Given the description of an element on the screen output the (x, y) to click on. 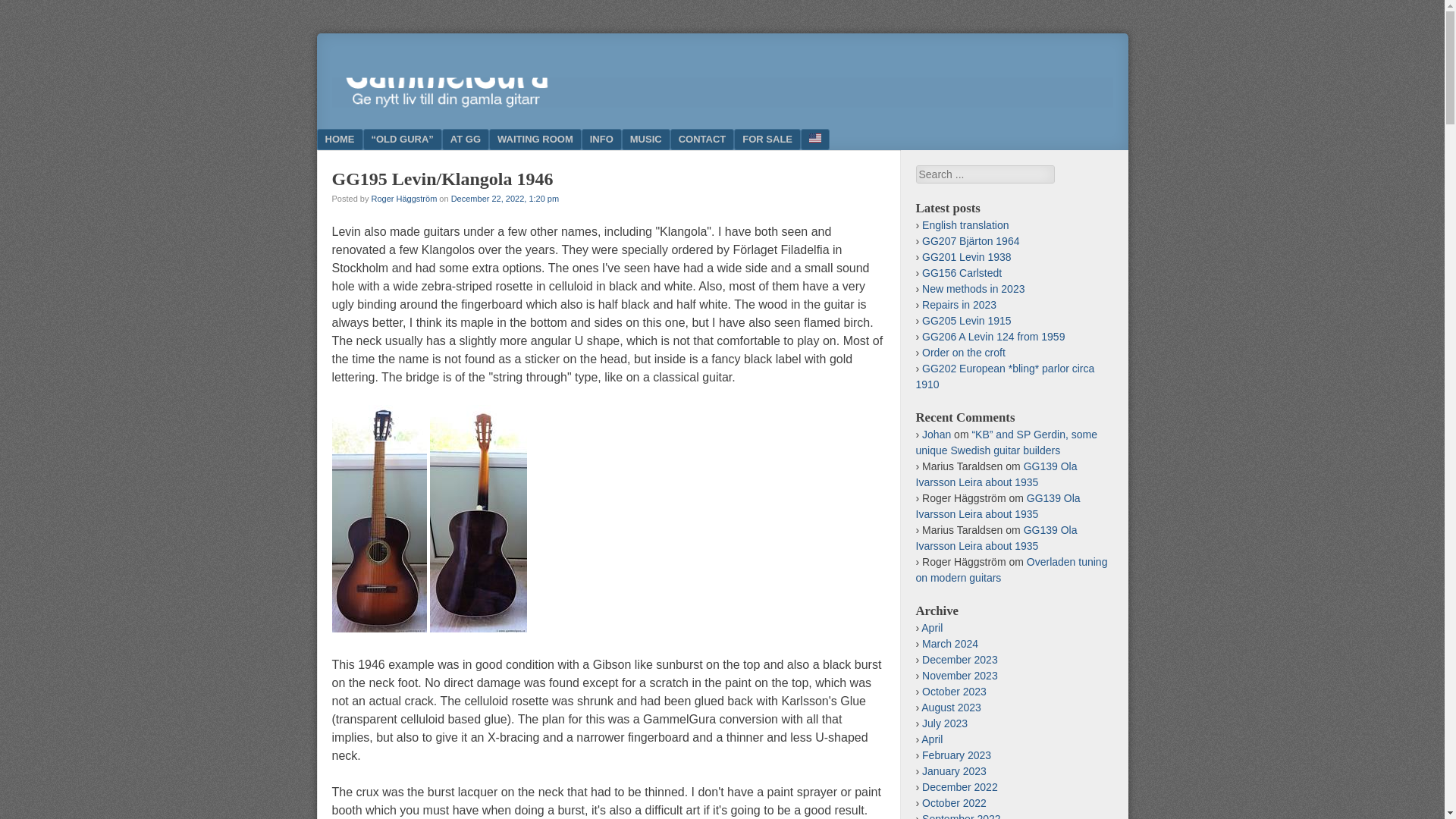
Skip to content (370, 138)
SKIP TO CONTENT (370, 138)
FOR SALE (766, 138)
MUSIC (645, 138)
CONTACT (702, 138)
HOME (339, 138)
WAITING ROOM (534, 138)
AT GG (465, 138)
Gammel Gura (722, 103)
INFO (600, 138)
Swedish (814, 138)
